Given the description of an element on the screen output the (x, y) to click on. 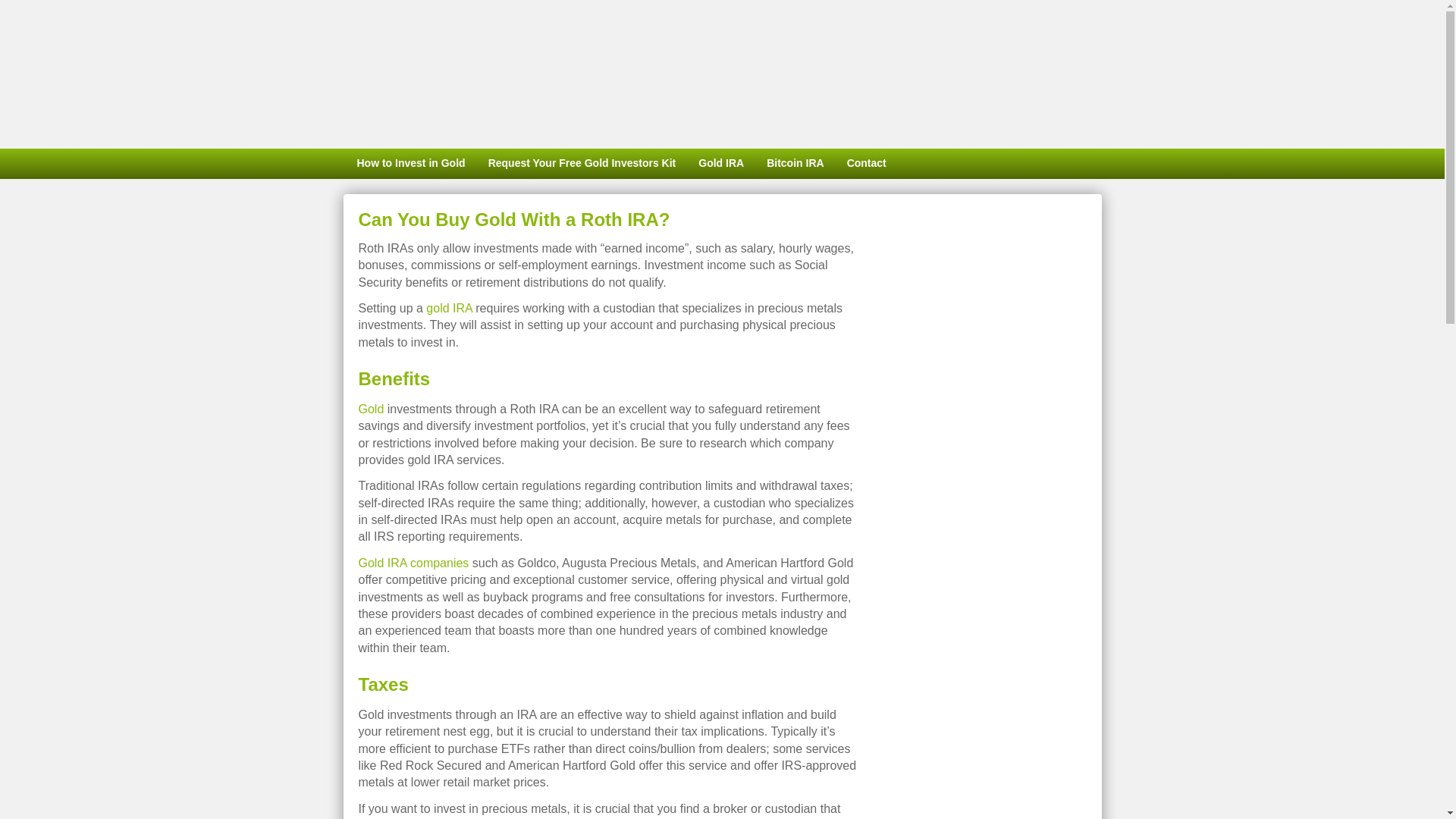
Bitcoin IRA (794, 163)
Gold (371, 408)
gold IRA (448, 308)
Gold IRA (721, 163)
Request Your Free Gold Investors Kit (582, 163)
Contact (866, 163)
Gold IRA companies (413, 562)
How to Invest in Gold (409, 163)
